Given the description of an element on the screen output the (x, y) to click on. 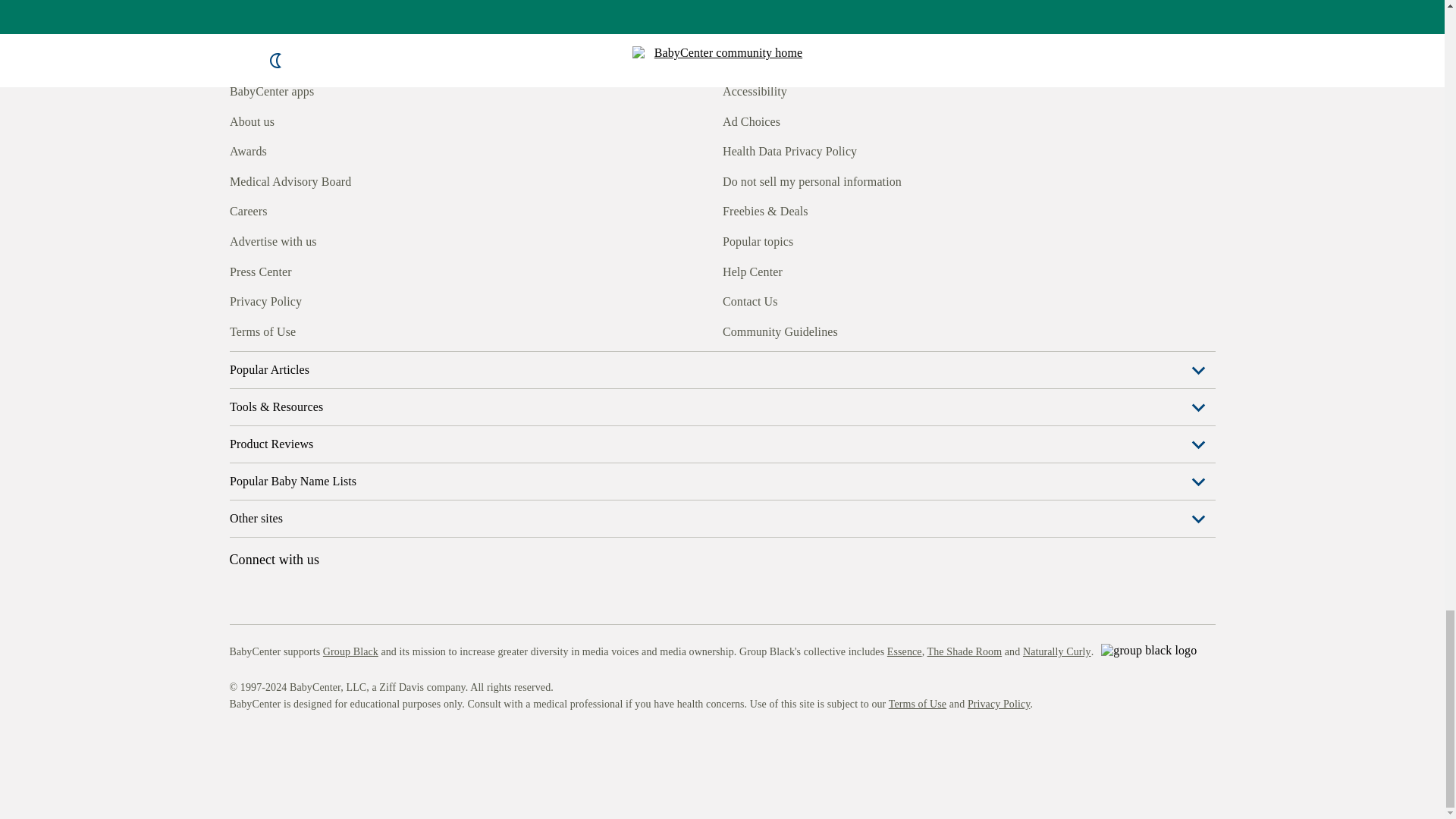
BabyCenter YouTube channel (344, 329)
BabyCenter Twitter feed (379, 329)
BabyCenter Facebook page (239, 329)
BabyCenter Pinterest board (309, 329)
BabyCenter Instagram feed (274, 329)
